Given the description of an element on the screen output the (x, y) to click on. 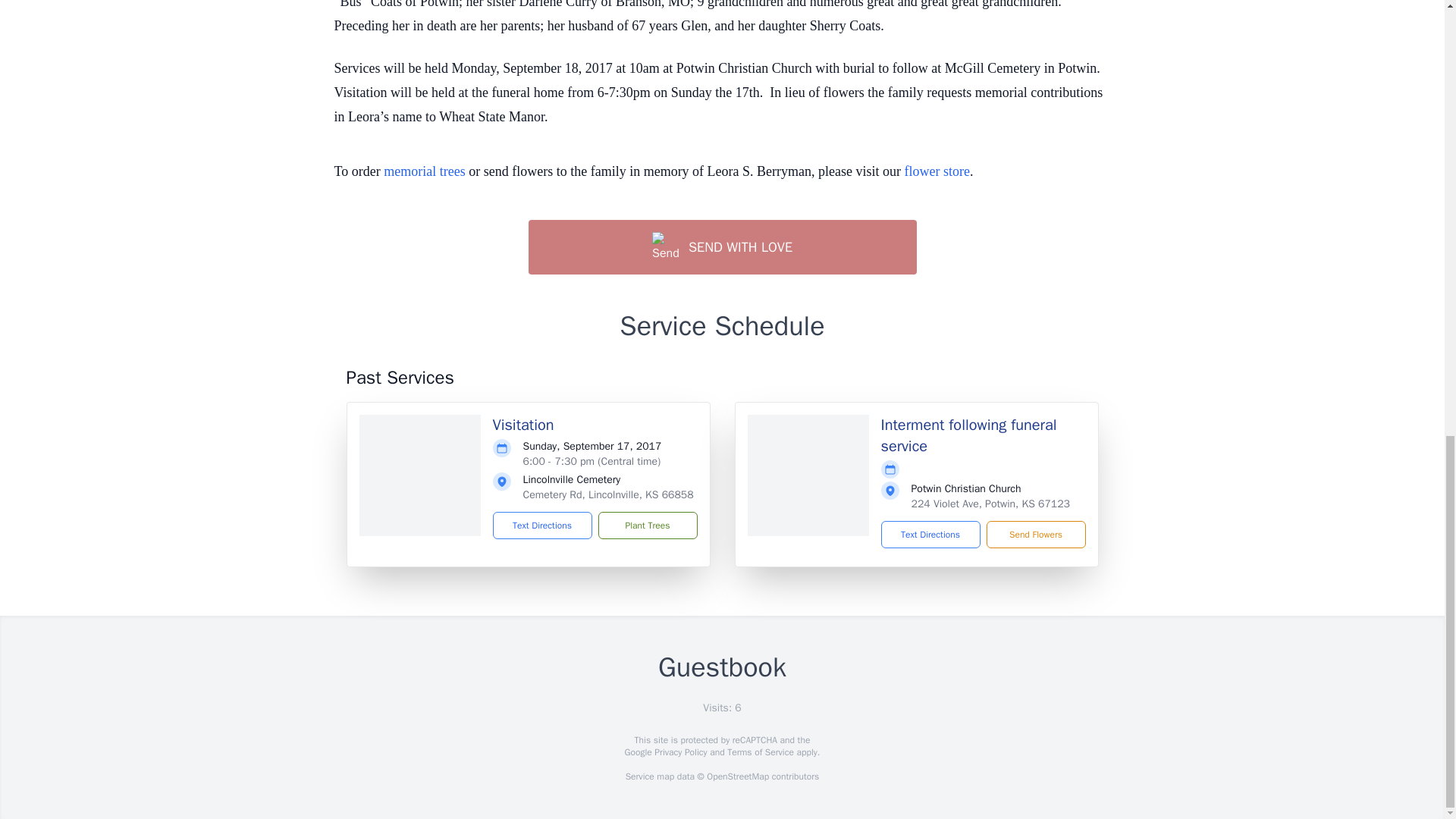
Terms of Service (759, 752)
SEND WITH LOVE (721, 247)
memorial trees (424, 171)
Send Flowers (1034, 533)
flower store (936, 171)
Text Directions (929, 533)
Text Directions (542, 524)
Plant Trees (646, 524)
OpenStreetMap (737, 776)
Privacy Policy (679, 752)
